Given the description of an element on the screen output the (x, y) to click on. 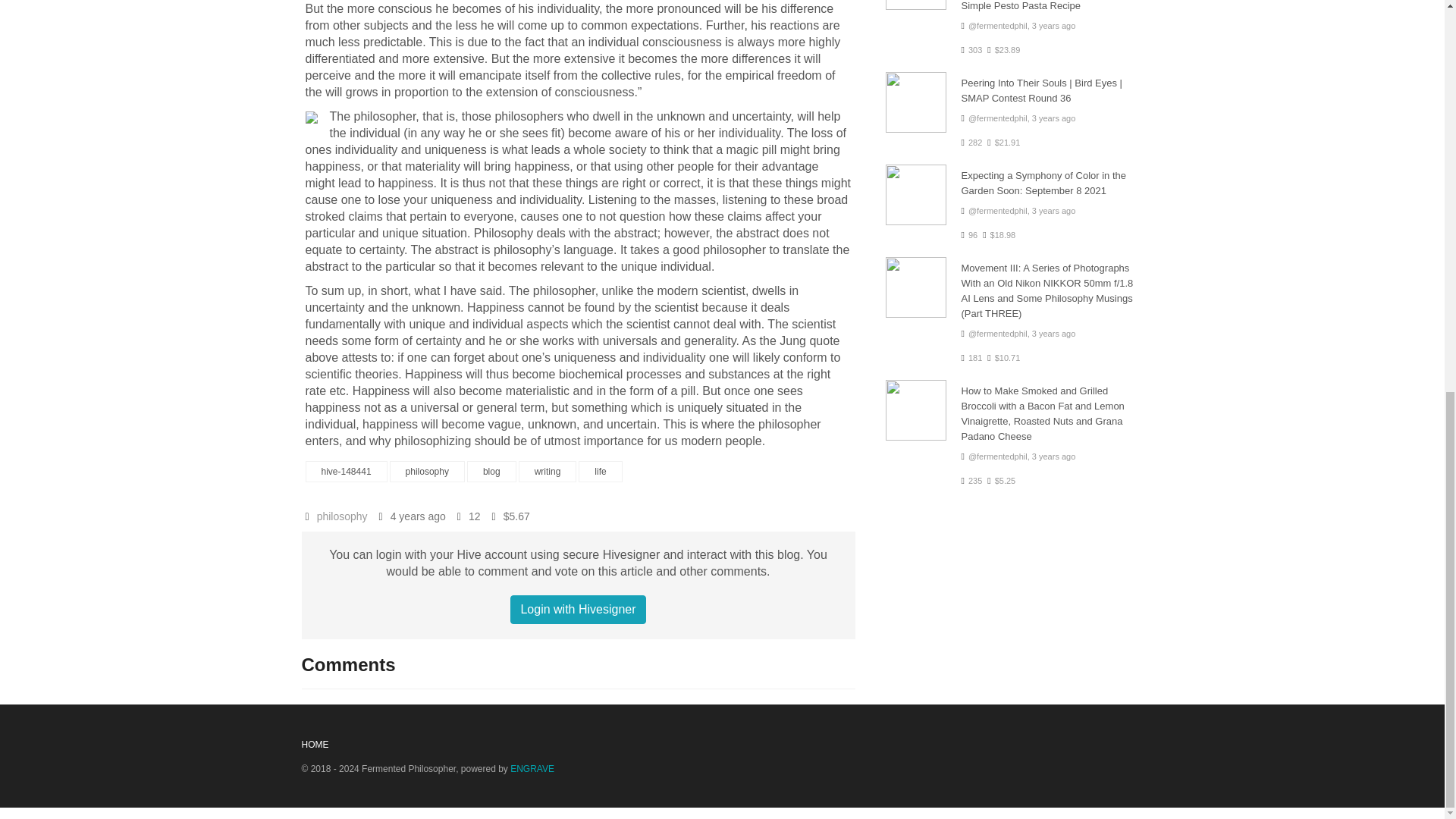
philosophy (342, 516)
September 10, 2021 5:38 PM (1053, 25)
hive-148441 (345, 471)
philosophy (427, 471)
September 6, 2021 4:47 PM (1053, 456)
September 15, 2021 4:09 PM (1053, 333)
September 16, 2020 5:28 PM (417, 516)
September 8, 2021 8:14 PM (1053, 210)
writing (547, 471)
Login with Hivesigner (578, 609)
